Given the description of an element on the screen output the (x, y) to click on. 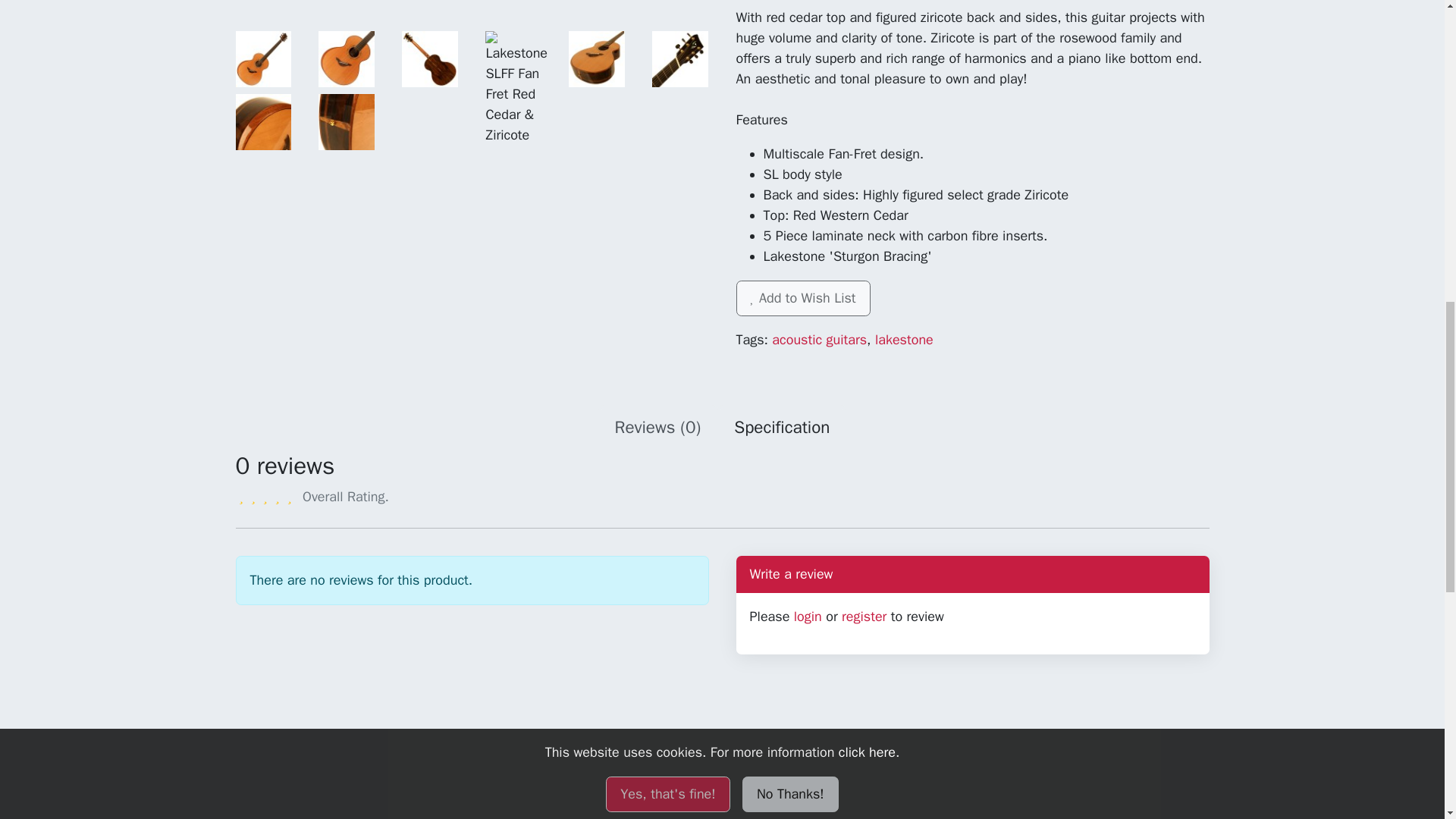
Add to Wish List (802, 298)
